Given the description of an element on the screen output the (x, y) to click on. 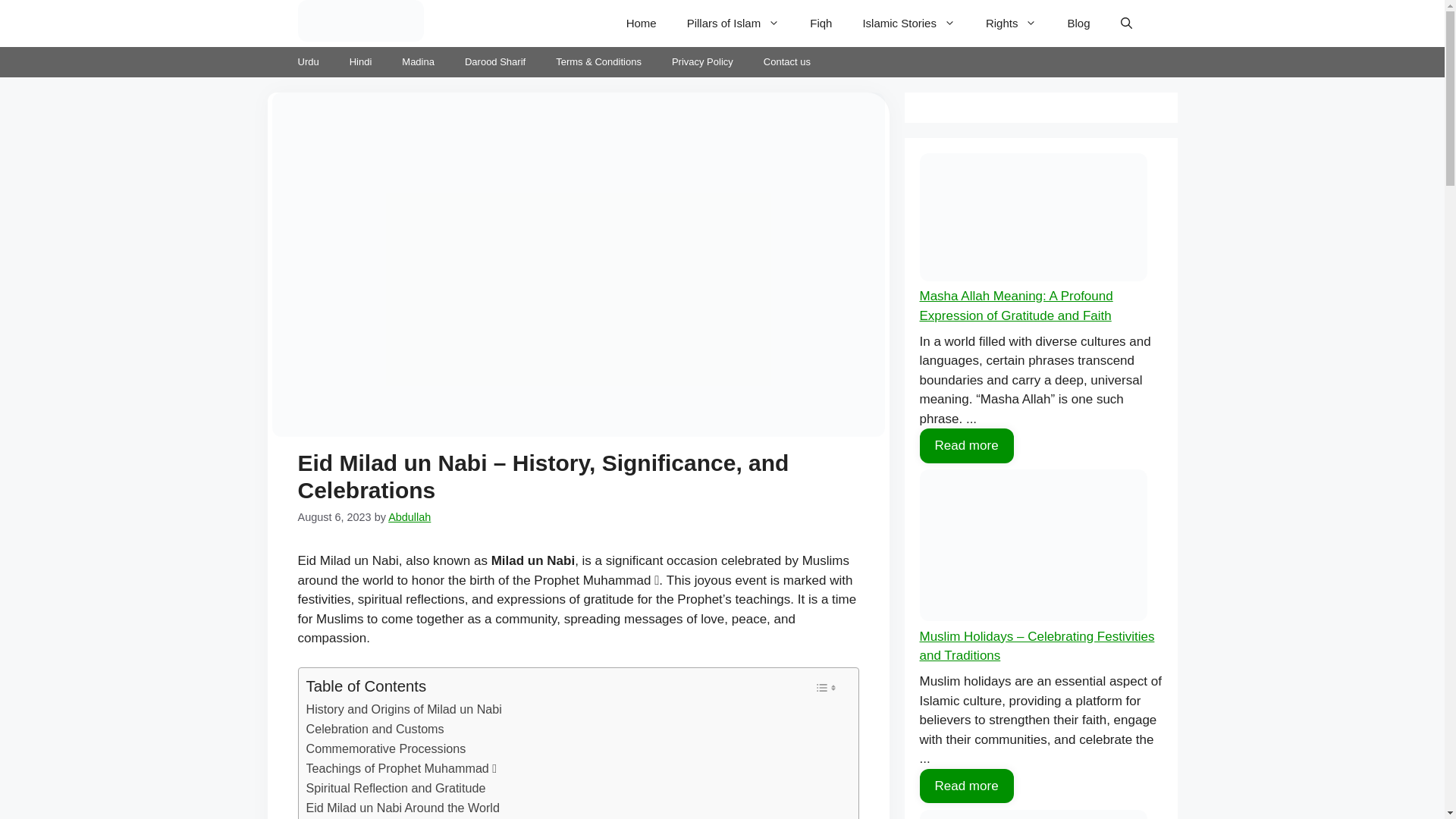
Blog (1078, 23)
Commemorative Processions (385, 749)
Eid Milad un Nabi Around the World (402, 808)
Spiritual Reflection and Gratitude (395, 788)
Celebration and Customs (374, 729)
Sunnism (360, 20)
View all posts by Abdullah (409, 517)
Spiritual Reflection and Gratitude (395, 788)
Urdu (307, 61)
Sunnism (360, 23)
Home (641, 23)
Pillars of Islam (732, 23)
Madina (418, 61)
Islamic Stories (909, 23)
